Given the description of an element on the screen output the (x, y) to click on. 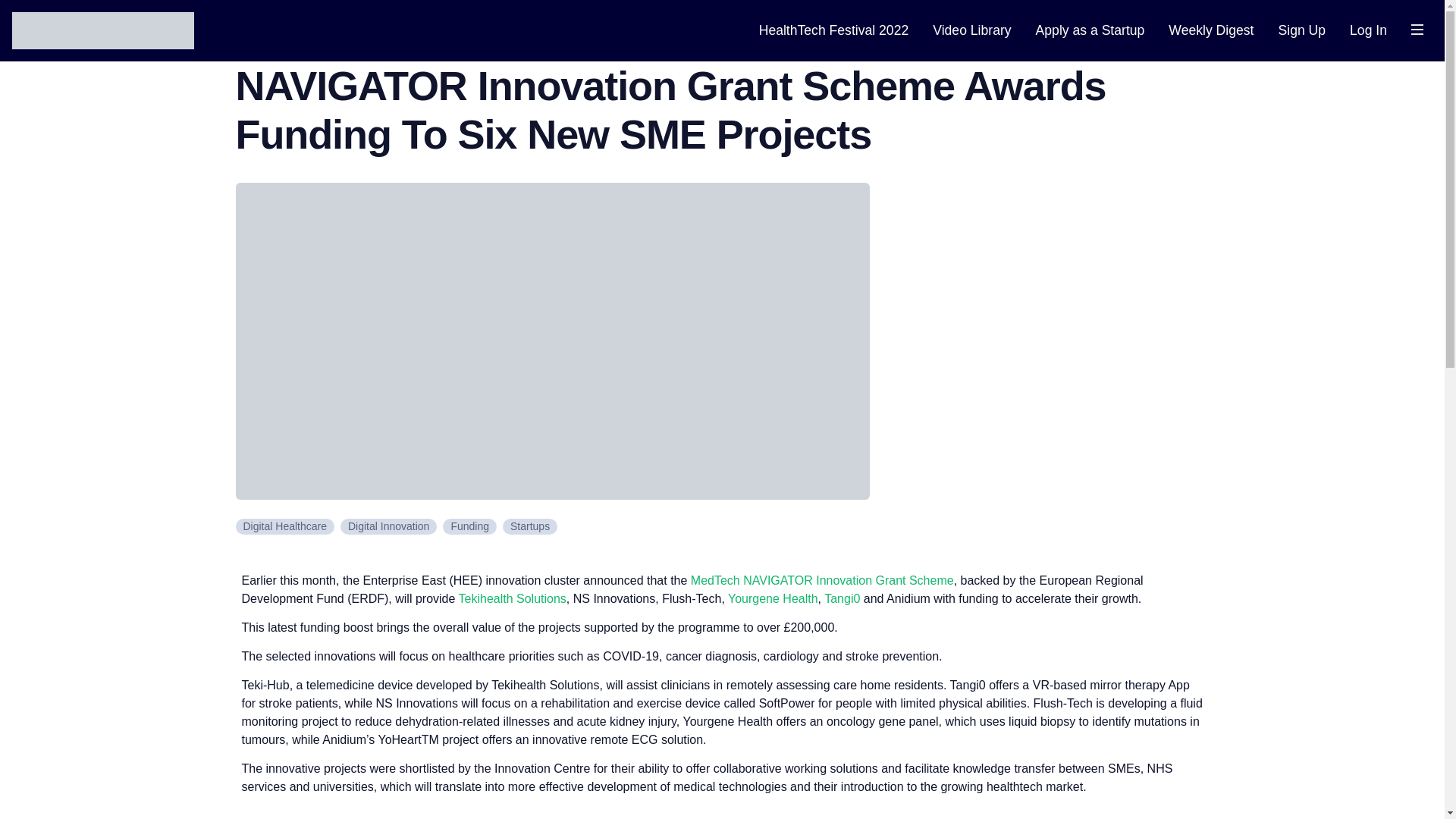
MedTech NAVIGATOR Innovation Grant Scheme (821, 580)
HealthTech Festival 2022 (833, 30)
Log In (1368, 30)
Tekihealth Solutions (512, 598)
Funding (469, 526)
Digital Innovation (388, 526)
Tangi0 (842, 598)
Weekly Digest (1211, 30)
Digital Healthcare (284, 526)
Startups (529, 526)
Video Library (971, 30)
Yourgene Health (773, 598)
Apply as a Startup (1089, 30)
Sign Up (1301, 30)
